Given the description of an element on the screen output the (x, y) to click on. 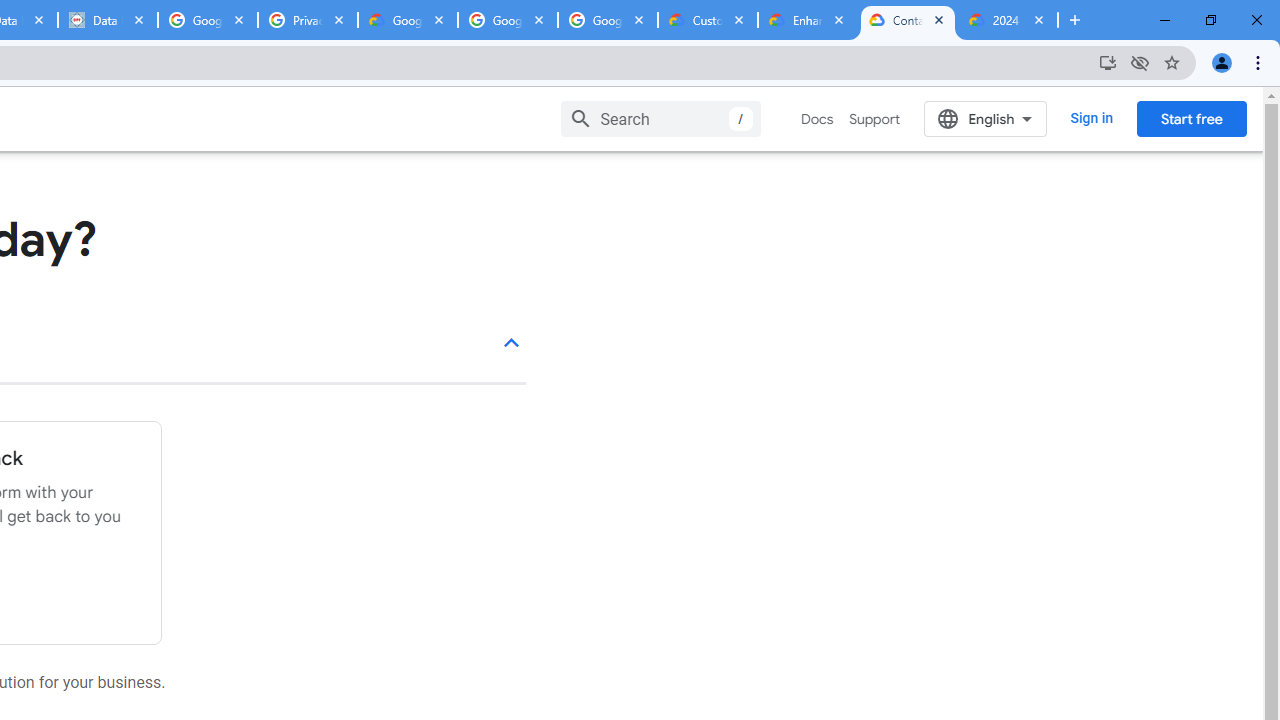
Google Cloud Terms Directory | Google Cloud (408, 20)
Google Workspace - Specific Terms (607, 20)
